Given the description of an element on the screen output the (x, y) to click on. 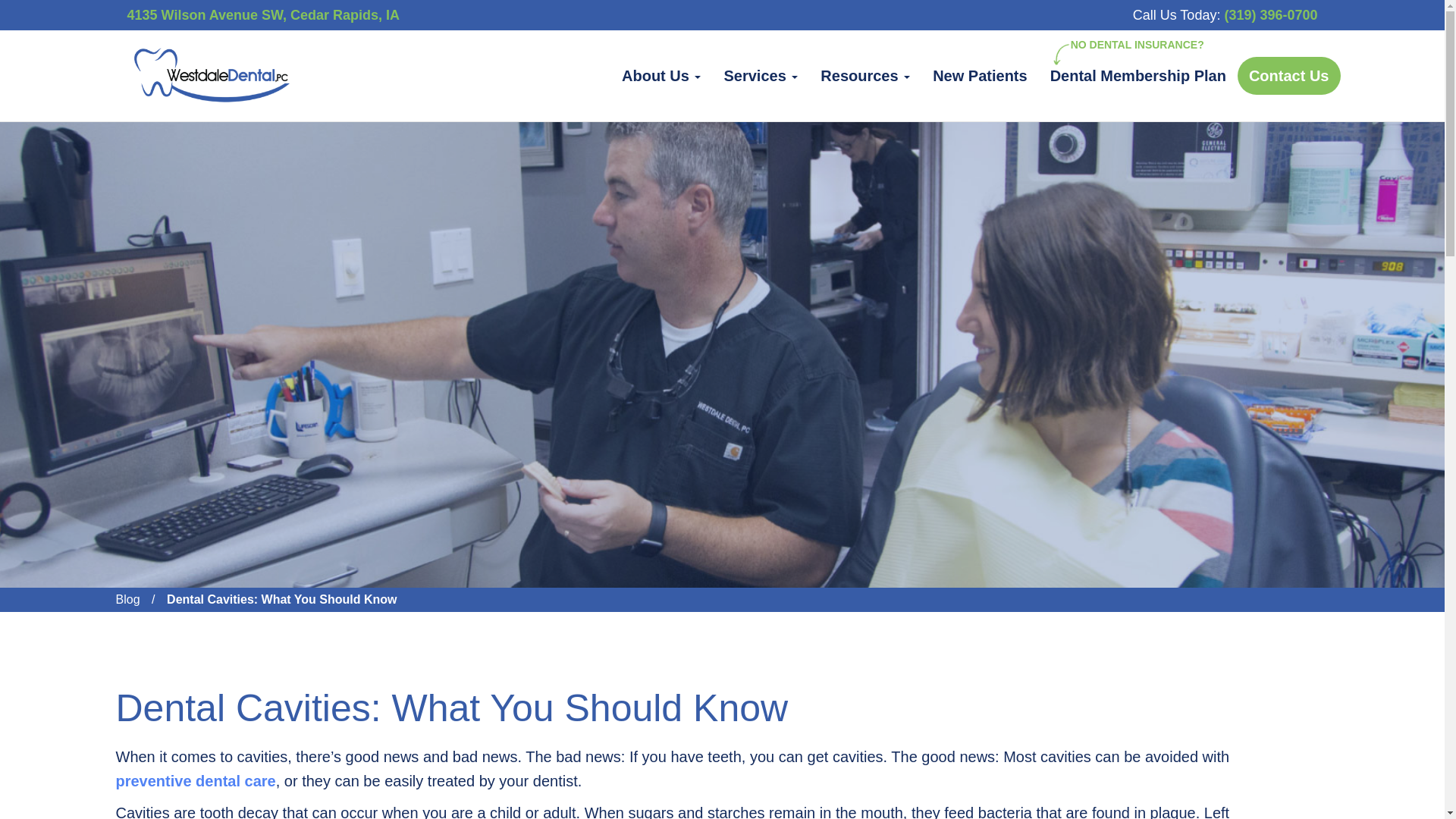
4135 Wilson Avenue SW, Cedar Rapids, IA (264, 14)
Resources (865, 75)
preventive dental care (195, 781)
Contact Us (1288, 75)
Dental Membership Plan (1138, 75)
New Patients (979, 75)
Blog (127, 599)
About Us (660, 75)
Services (760, 75)
